Given the description of an element on the screen output the (x, y) to click on. 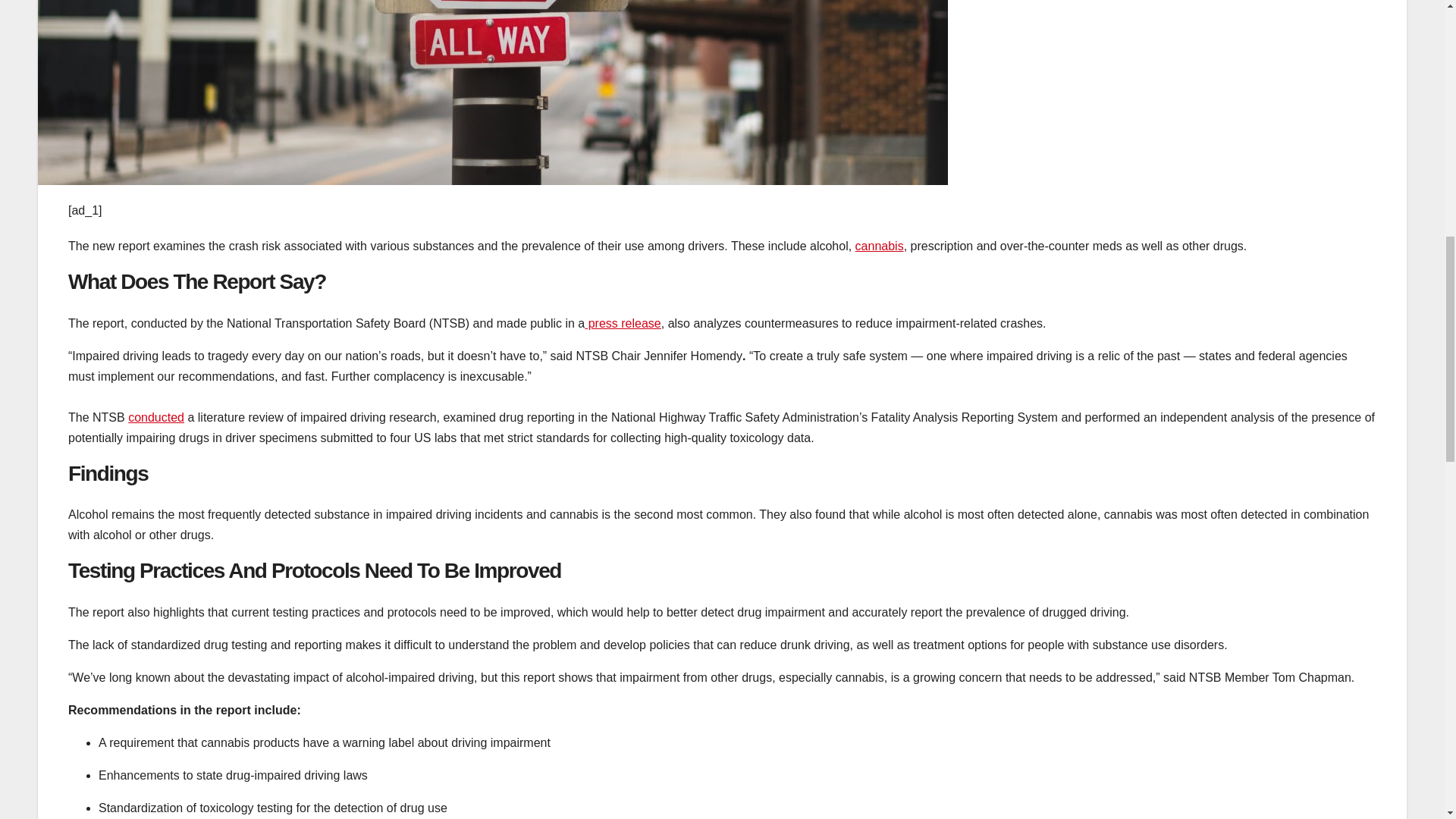
conducted (156, 417)
 press release (623, 323)
cannabis (880, 245)
